Given the description of an element on the screen output the (x, y) to click on. 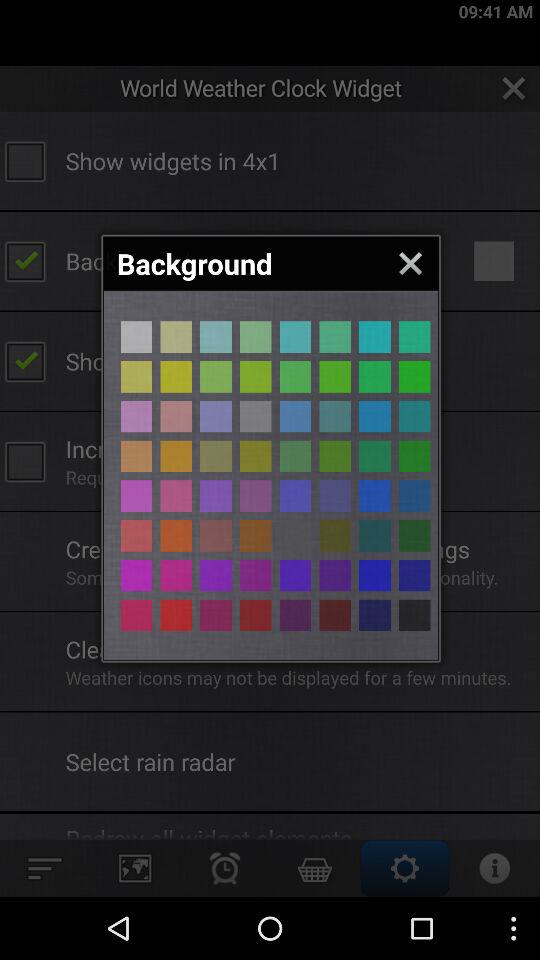
choose a color (176, 456)
